Given the description of an element on the screen output the (x, y) to click on. 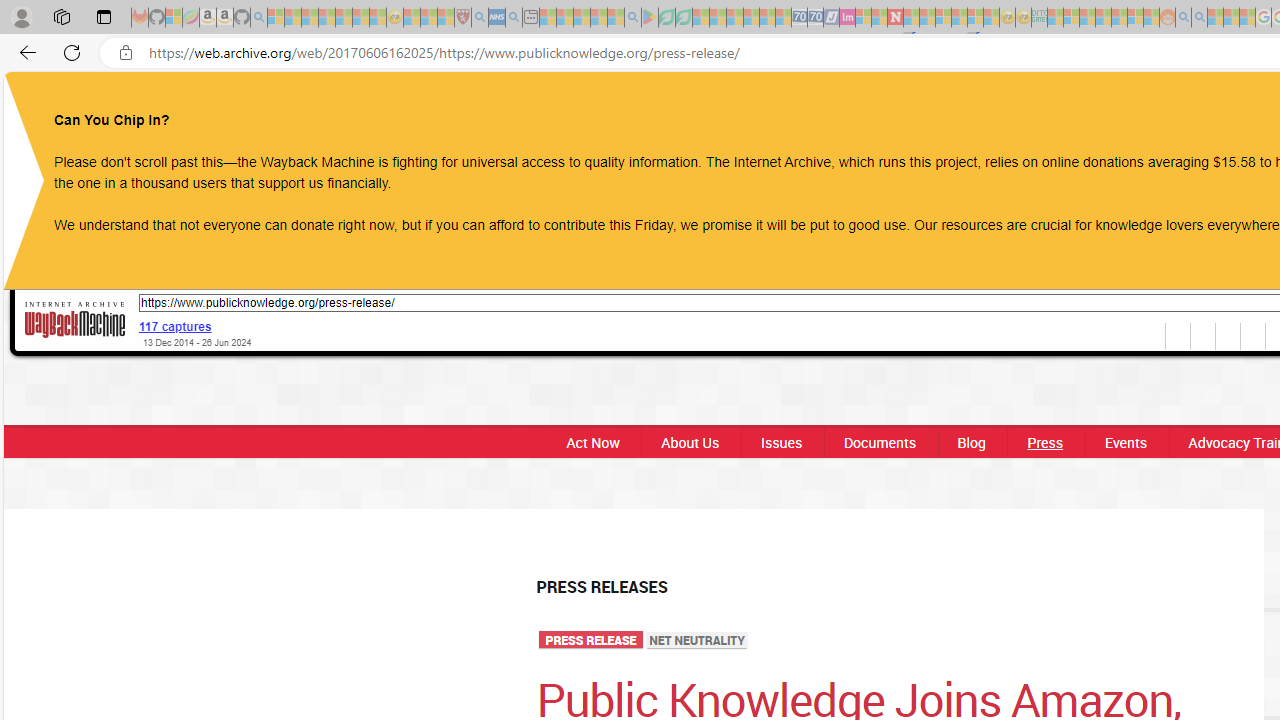
TWITTER (1218, 108)
About Us (690, 442)
Press (1045, 442)
Public Knowledge (649, 106)
